Given the description of an element on the screen output the (x, y) to click on. 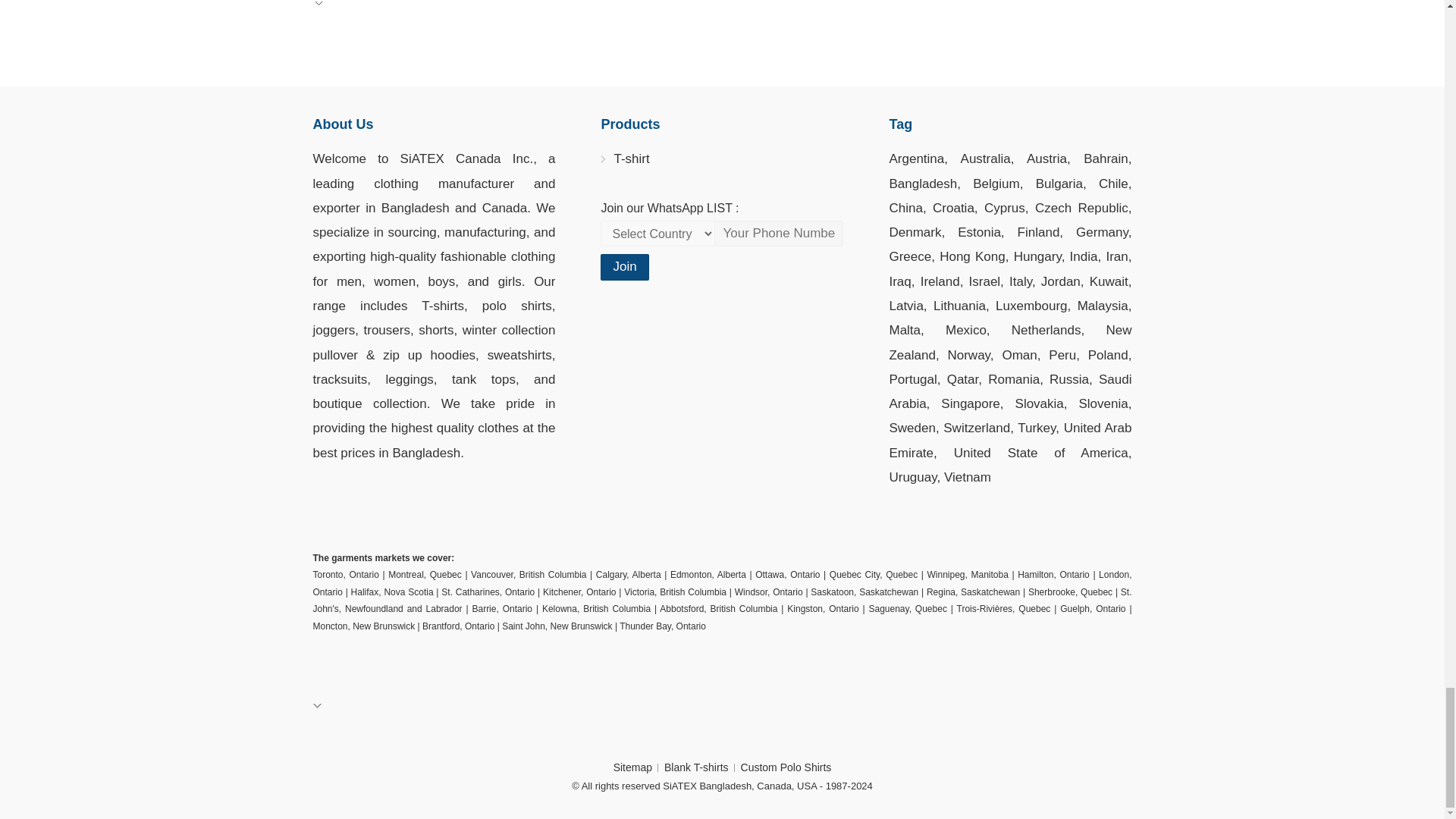
Join (623, 266)
T-shirt (630, 158)
clothing manufacturer and exporter in Bangladesh and Canada (433, 195)
